Given the description of an element on the screen output the (x, y) to click on. 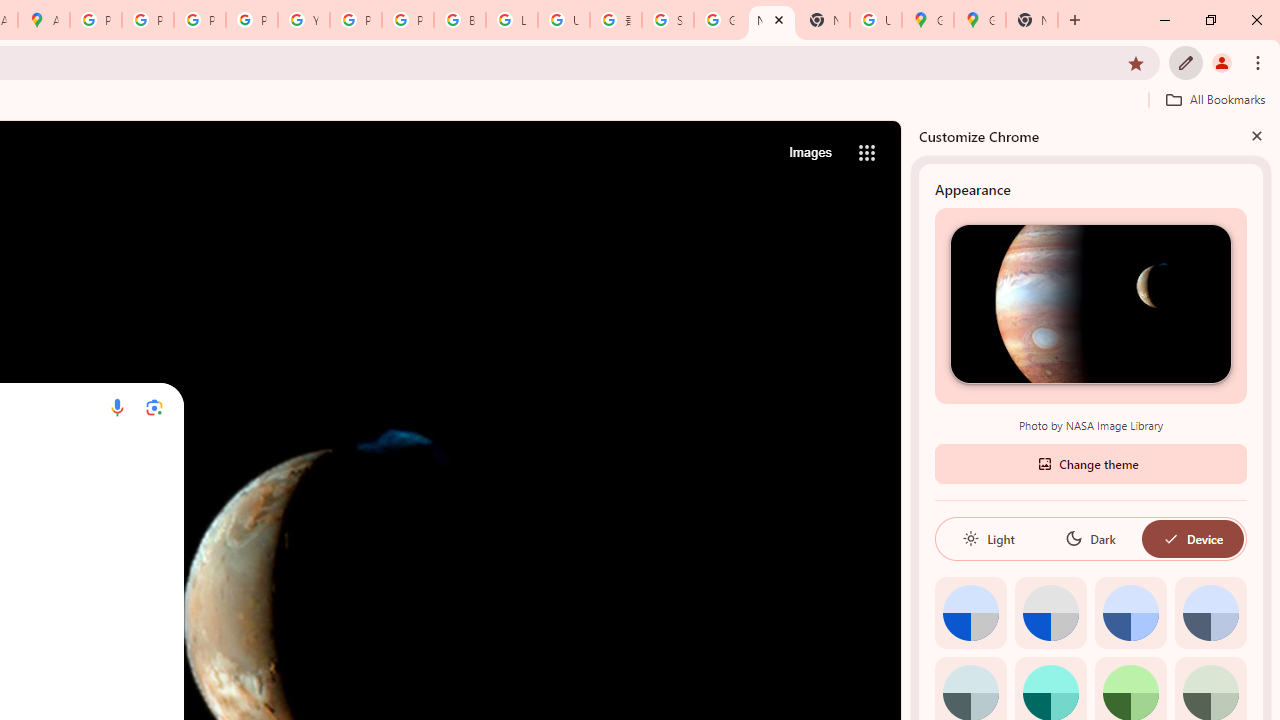
YouTube (303, 20)
Photo by NASA Image Library (1090, 303)
Sign in - Google Accounts (667, 20)
Dark (1090, 538)
AutomationID: baseSvg (1170, 538)
Device (1192, 538)
Privacy Help Center - Policies Help (147, 20)
Google Maps (979, 20)
